Given the description of an element on the screen output the (x, y) to click on. 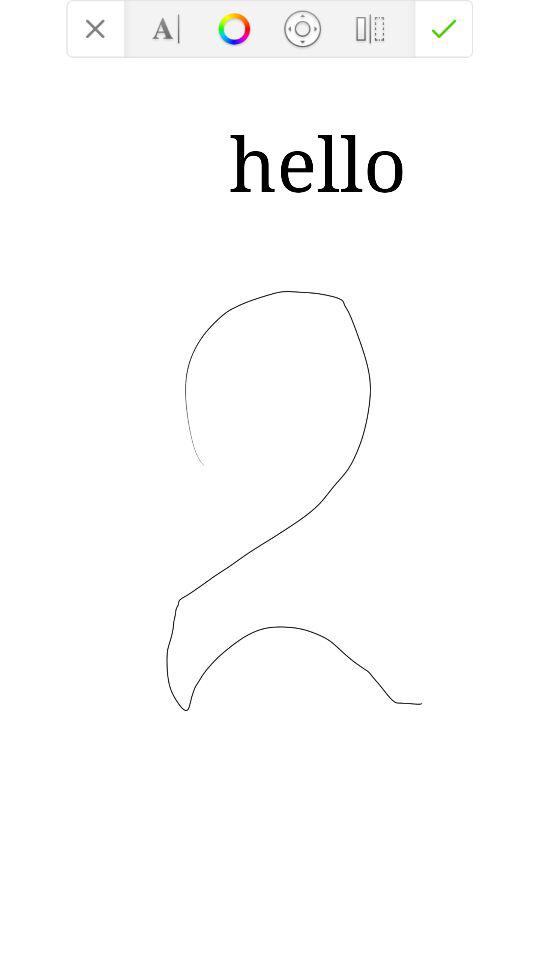
flip option (370, 28)
